Given the description of an element on the screen output the (x, y) to click on. 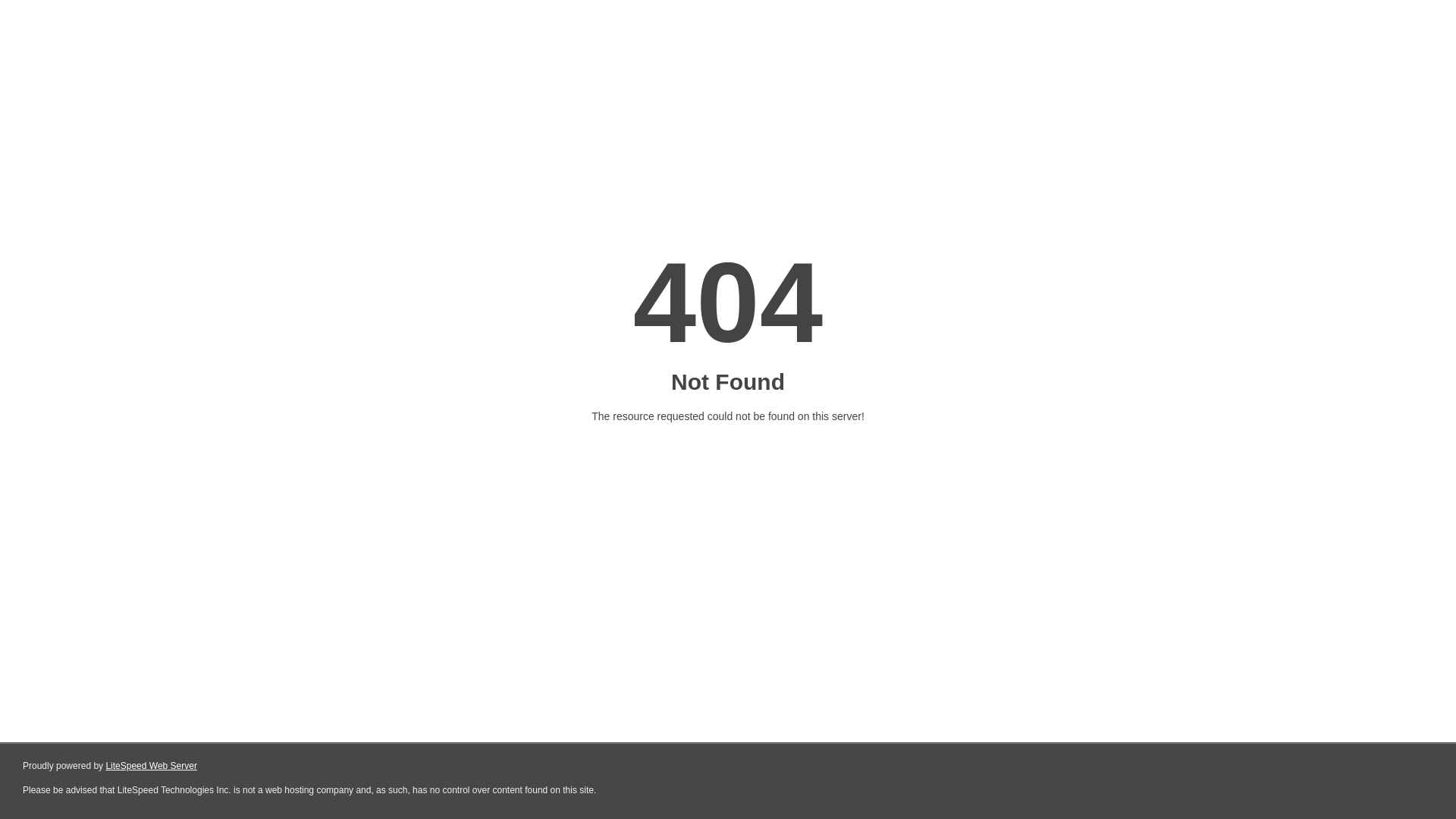
LiteSpeed Web Server Element type: text (151, 765)
